Given the description of an element on the screen output the (x, y) to click on. 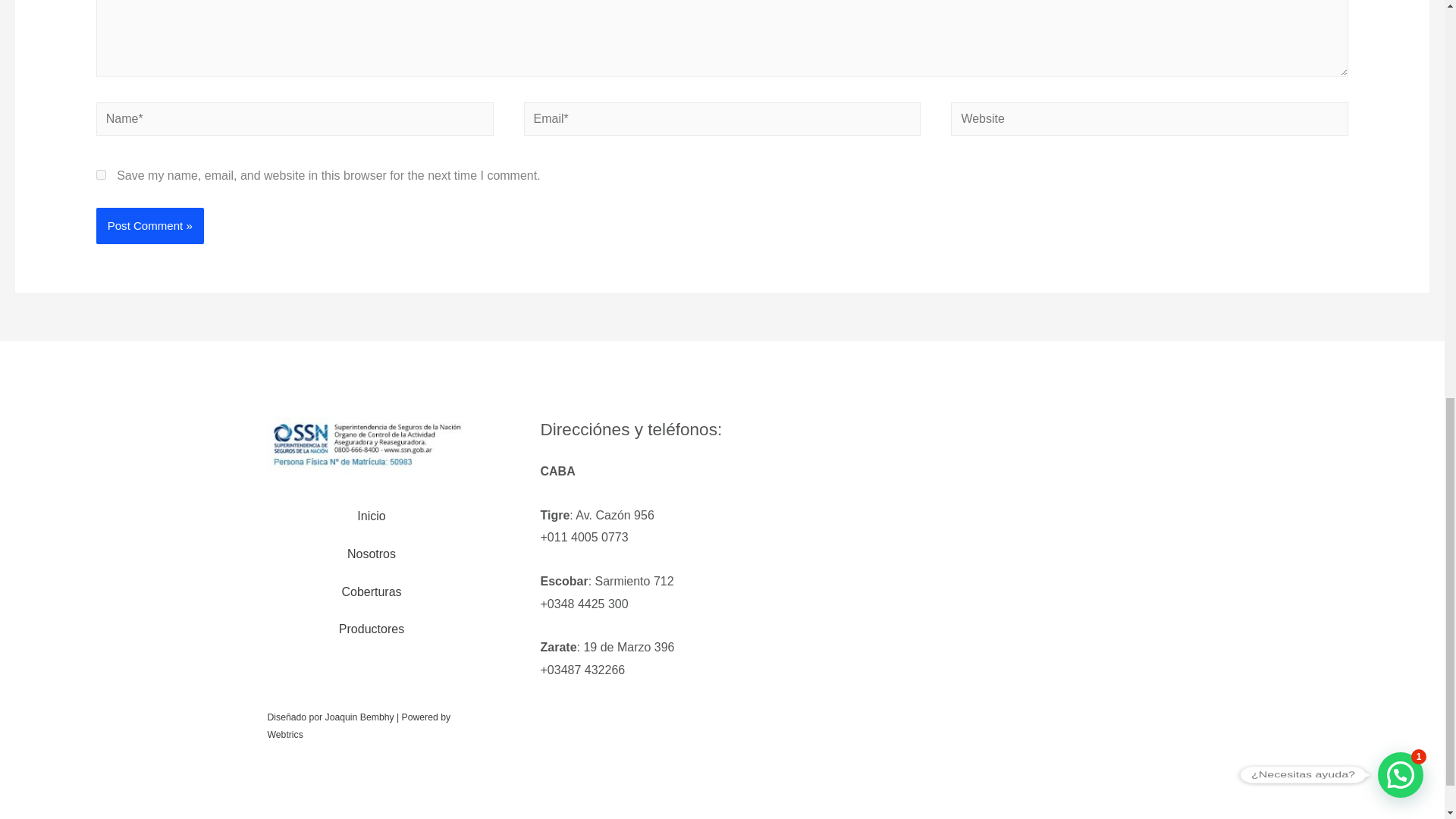
Productores (371, 629)
Nosotros (371, 554)
Coberturas (371, 591)
Inicio (371, 516)
yes (101, 174)
